Given the description of an element on the screen output the (x, y) to click on. 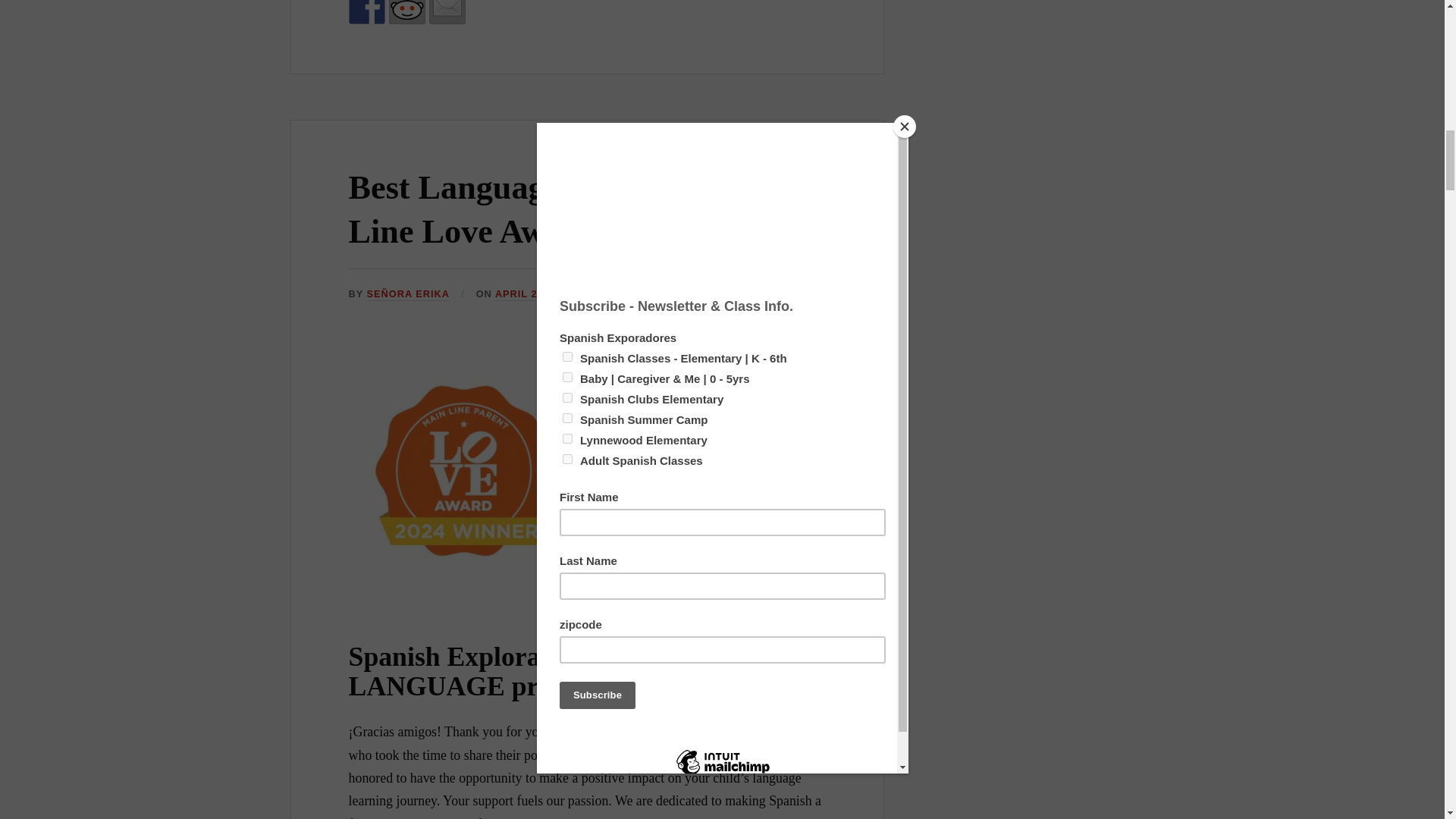
Share on Reddit (406, 12)
Share by email (447, 12)
Share on Facebook (367, 12)
